Given the description of an element on the screen output the (x, y) to click on. 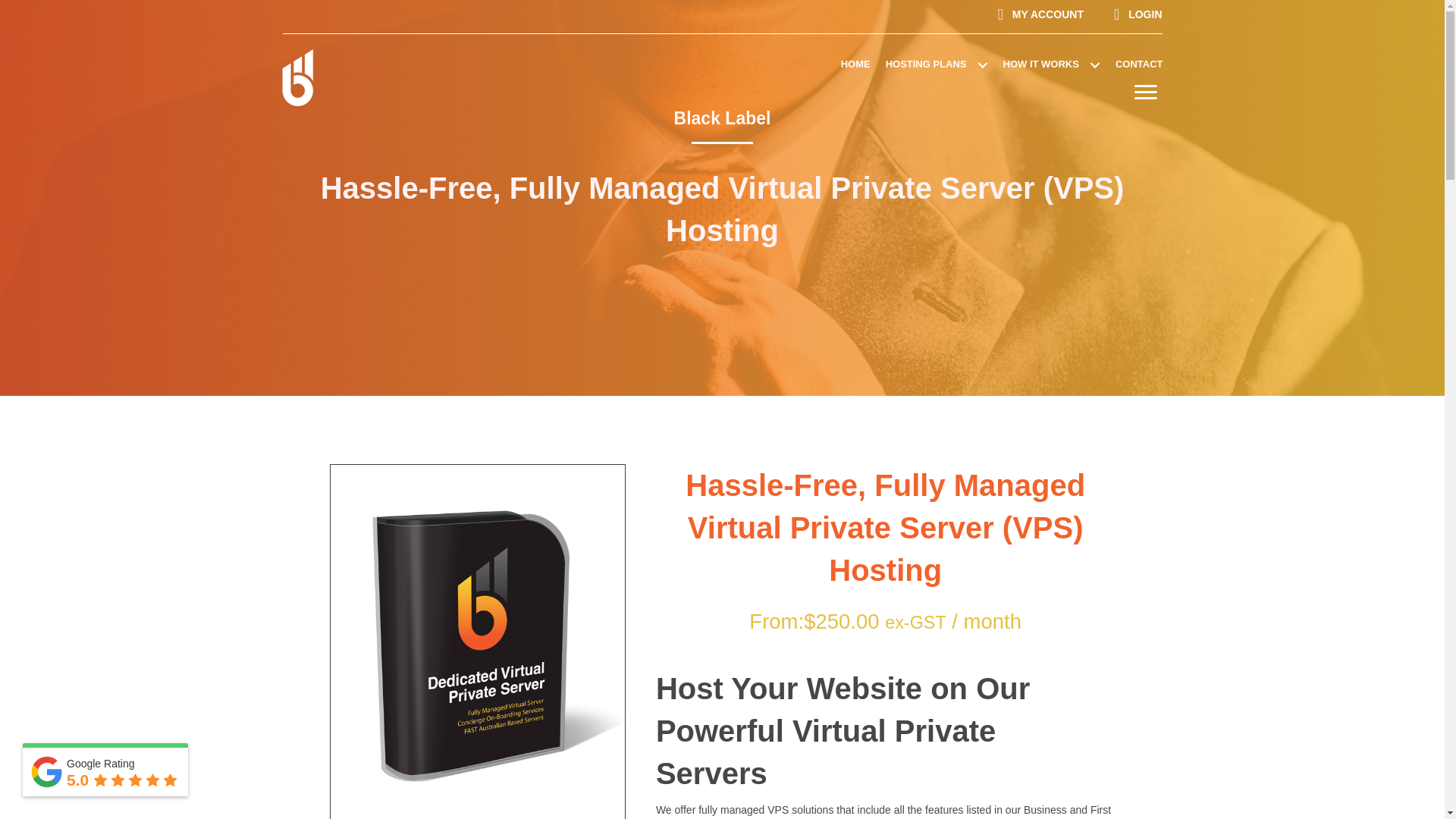
HOME (847, 64)
CONTACT (1131, 64)
HOSTING PLANS (929, 64)
HOW IT WORKS (1044, 64)
LOGIN (1137, 14)
MY ACCOUNT (1040, 14)
